Given the description of an element on the screen output the (x, y) to click on. 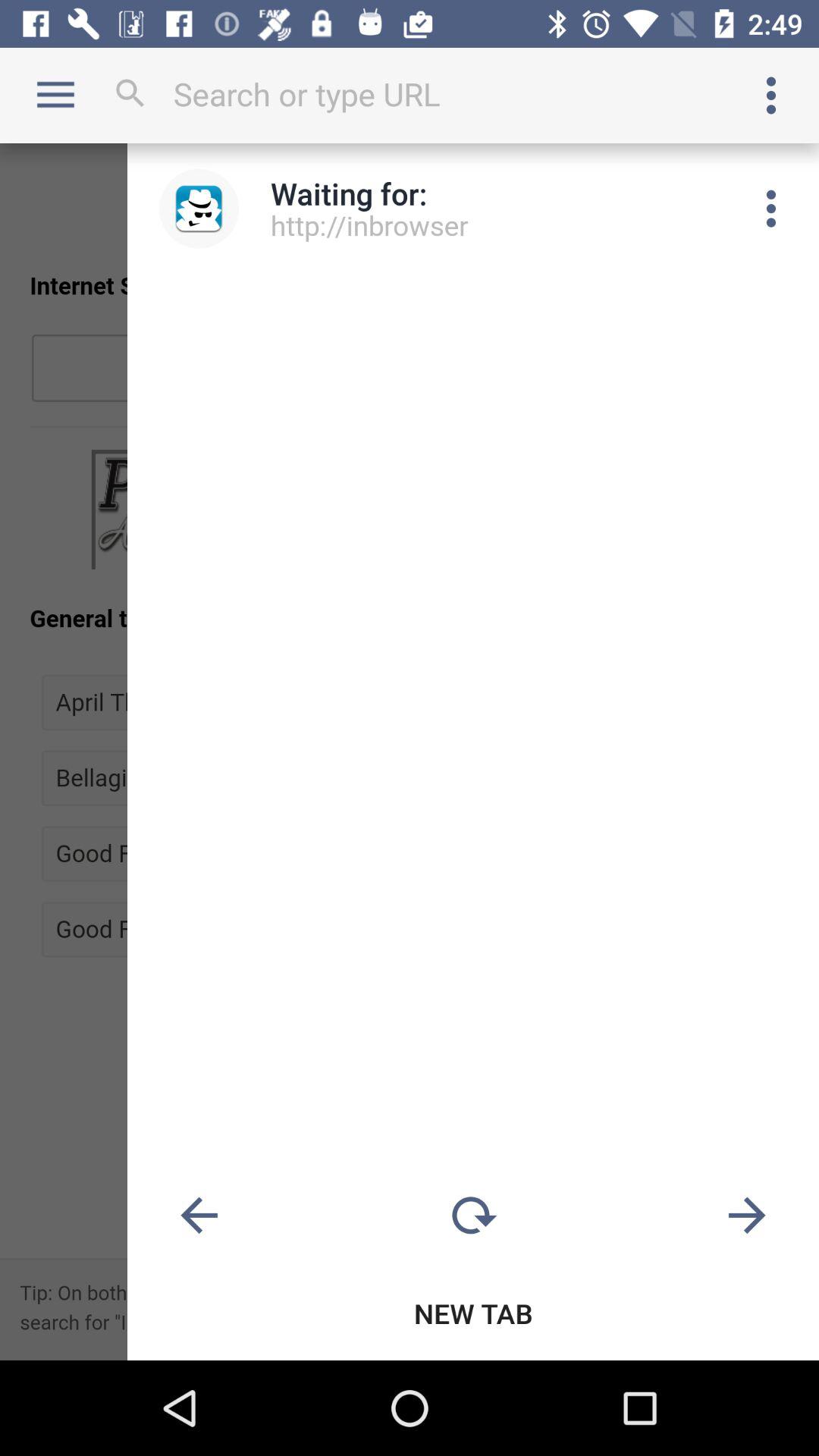
turn off item at the center (409, 751)
